Given the description of an element on the screen output the (x, y) to click on. 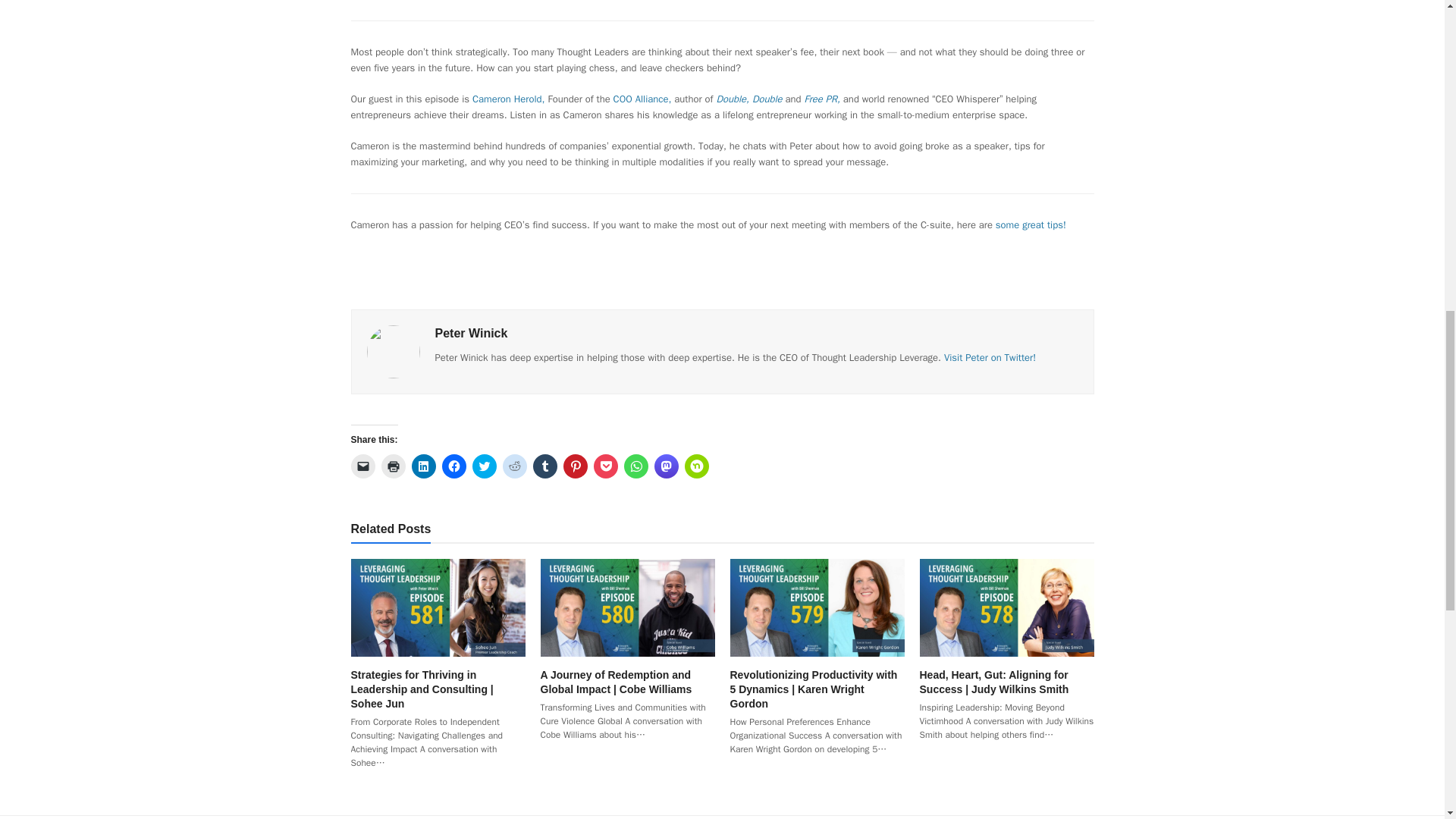
Visit Author Page (393, 350)
